Given the description of an element on the screen output the (x, y) to click on. 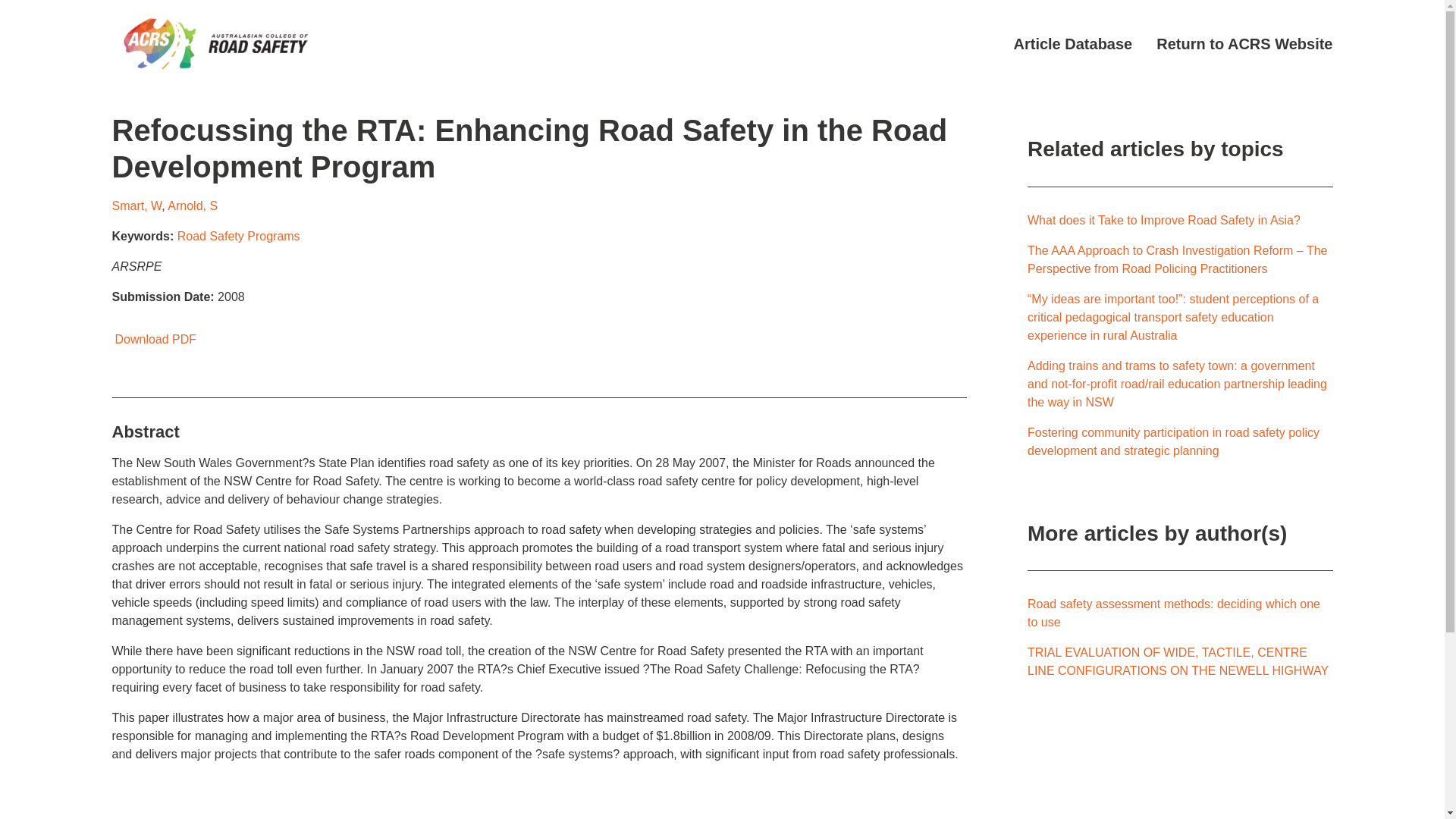
What does it Take to Improve Road Safety in Asia? (1163, 219)
Road safety assessment methods: deciding which one to use (1173, 612)
Arnold, S (191, 205)
Road Safety Programs (238, 236)
Article Database (1072, 43)
Smart, W (136, 205)
Download PDF (154, 338)
Return to ACRS Website (1244, 43)
